Given the description of an element on the screen output the (x, y) to click on. 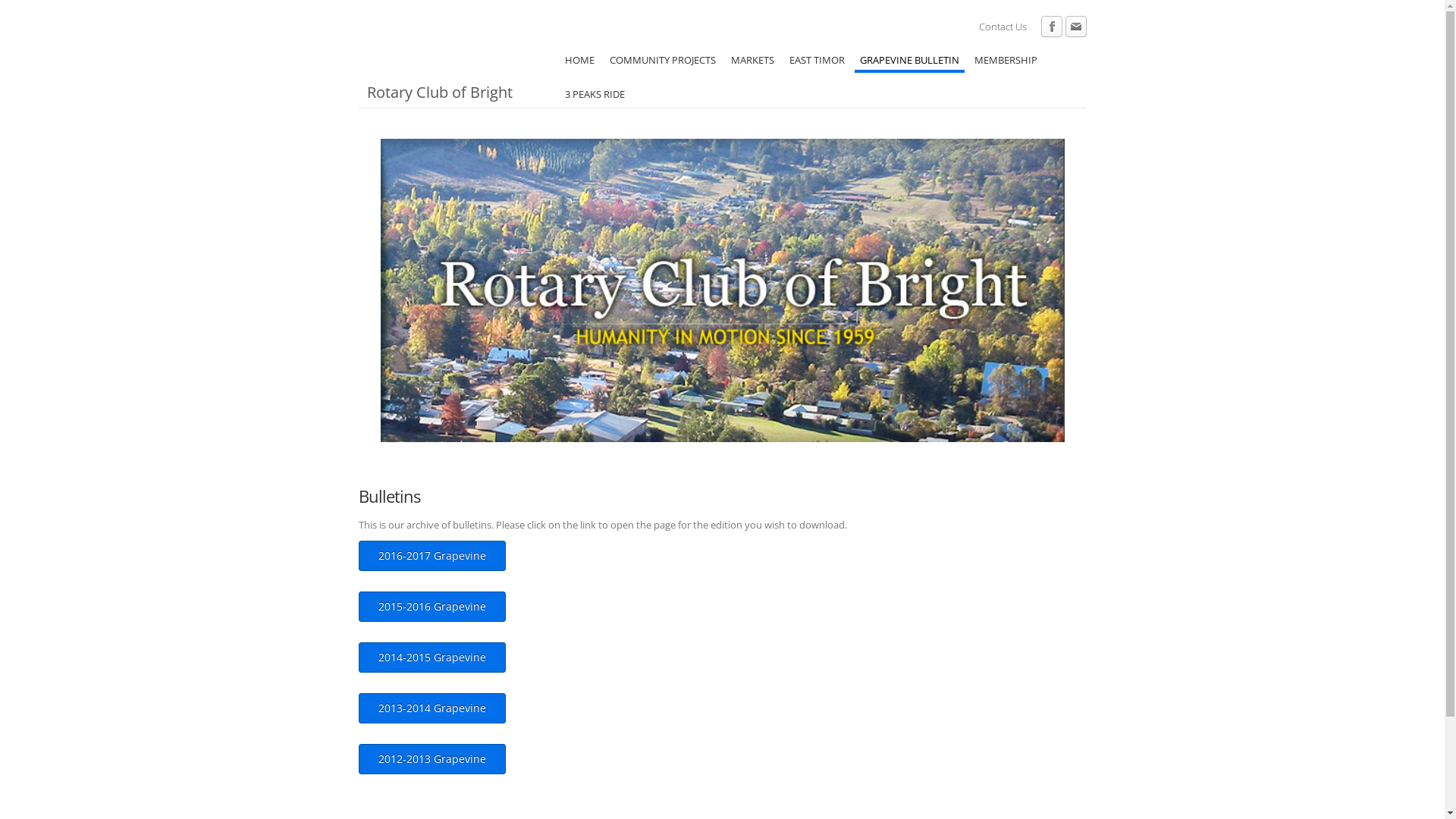
3 PEAKS RIDE Element type: text (594, 89)
2013-2014 Grapevine Element type: text (431, 708)
MARKETS Element type: text (751, 55)
2016-2017 Grapevine Element type: text (431, 555)
COMMUNITY PROJECTS Element type: text (661, 55)
2012-2013 Grapevine Element type: text (431, 758)
GRAPEVINE BULLETIN Element type: text (908, 55)
2014-2015 Grapevine Element type: text (431, 657)
HOME Element type: text (579, 55)
EAST TIMOR Element type: text (817, 55)
MEMBERSHIP Element type: text (1005, 55)
2015-2016 Grapevine Element type: text (431, 606)
